Given the description of an element on the screen output the (x, y) to click on. 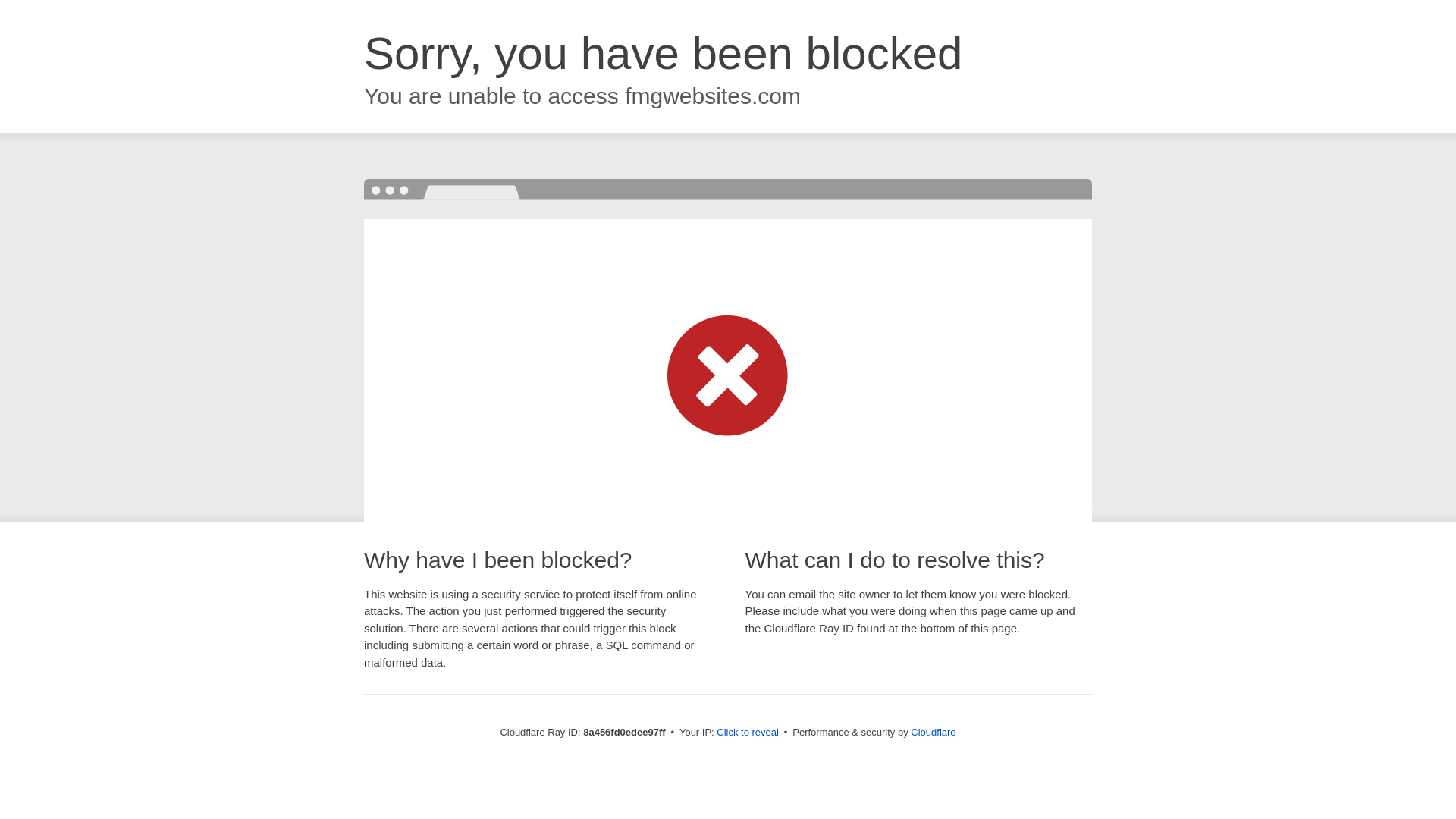
Click to reveal (747, 732)
Cloudflare (933, 731)
